Given the description of an element on the screen output the (x, y) to click on. 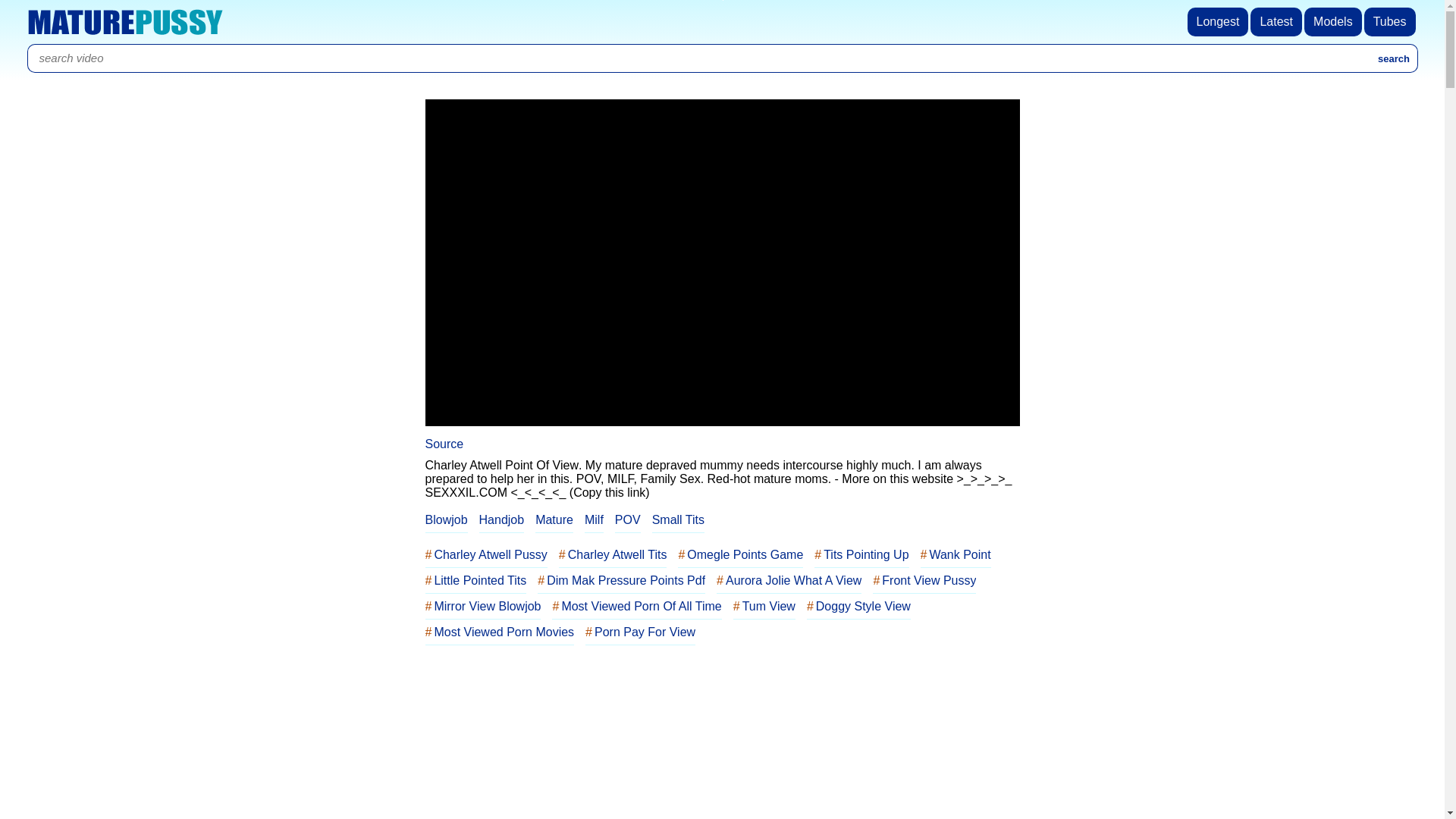
search Element type: text (1394, 57)
Doggy Style View Element type: text (858, 606)
Tits Pointing Up Element type: text (861, 554)
POV Element type: text (627, 520)
Source Element type: text (443, 443)
Handjob Element type: text (501, 520)
Milf Element type: text (593, 520)
Mature Element type: text (554, 520)
Wank Point Element type: text (955, 554)
Mirror View Blowjob Element type: text (482, 606)
Porn Pay For View Element type: text (640, 632)
Longest Element type: text (1219, 21)
Models Element type: text (1334, 21)
Omegle Points Game Element type: text (740, 554)
Latest Element type: text (1277, 21)
Most Viewed Porn Of All Time Element type: text (636, 606)
Charley Atwell Tits Element type: text (612, 554)
Dim Mak Pressure Points Pdf Element type: text (621, 580)
Tubes Element type: text (1391, 21)
Charley Atwell Pussy Element type: text (485, 554)
Aurora Jolie What A View Element type: text (788, 580)
Front View Pussy Element type: text (923, 580)
Tum View Element type: text (764, 606)
Mature pussy movies Element type: hover (124, 21)
Little Pointed Tits Element type: text (475, 580)
Small Tits Element type: text (678, 520)
Blowjob Element type: text (445, 520)
Most Viewed Porn Movies Element type: text (499, 632)
